Given the description of an element on the screen output the (x, y) to click on. 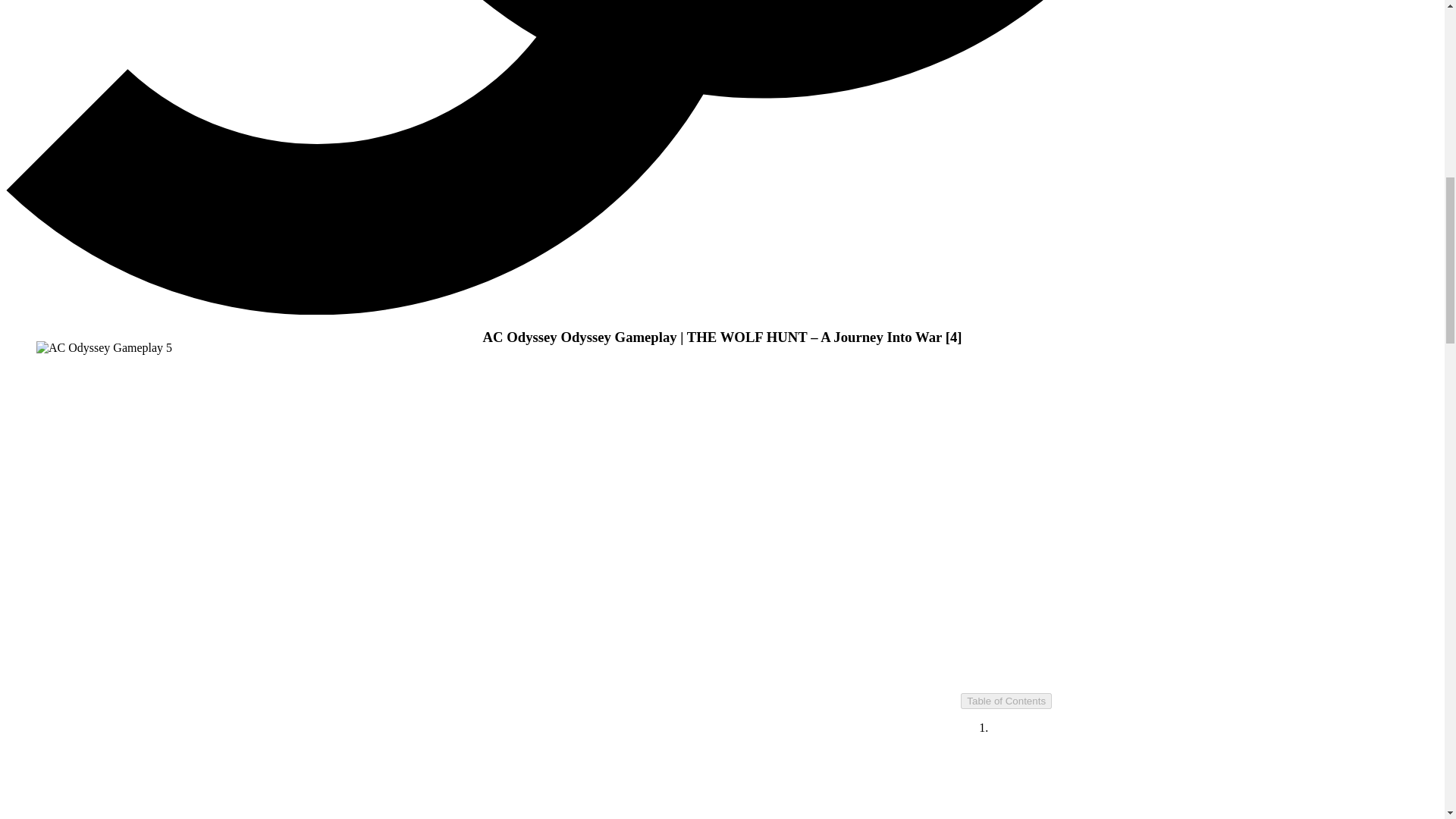
Table of Contents (1005, 700)
